Given the description of an element on the screen output the (x, y) to click on. 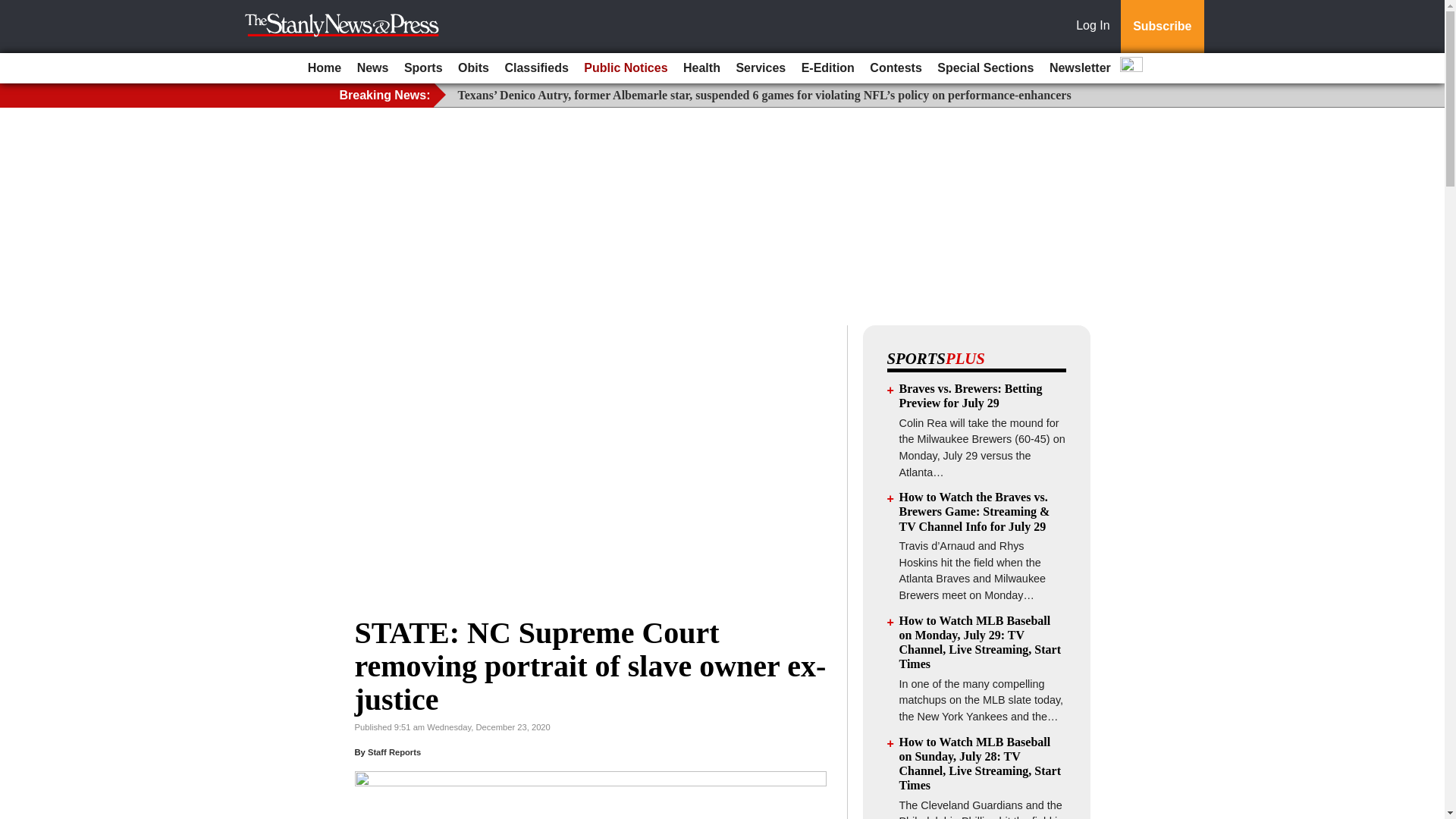
Contests (895, 68)
Subscribe (1162, 26)
Log In (1095, 26)
Go (13, 9)
Obits (473, 68)
Staff Reports (394, 751)
Home (324, 68)
Public Notices (625, 68)
News (372, 68)
E-Edition (827, 68)
Special Sections (985, 68)
Services (760, 68)
Health (701, 68)
Sports (422, 68)
Classifieds (535, 68)
